Given the description of an element on the screen output the (x, y) to click on. 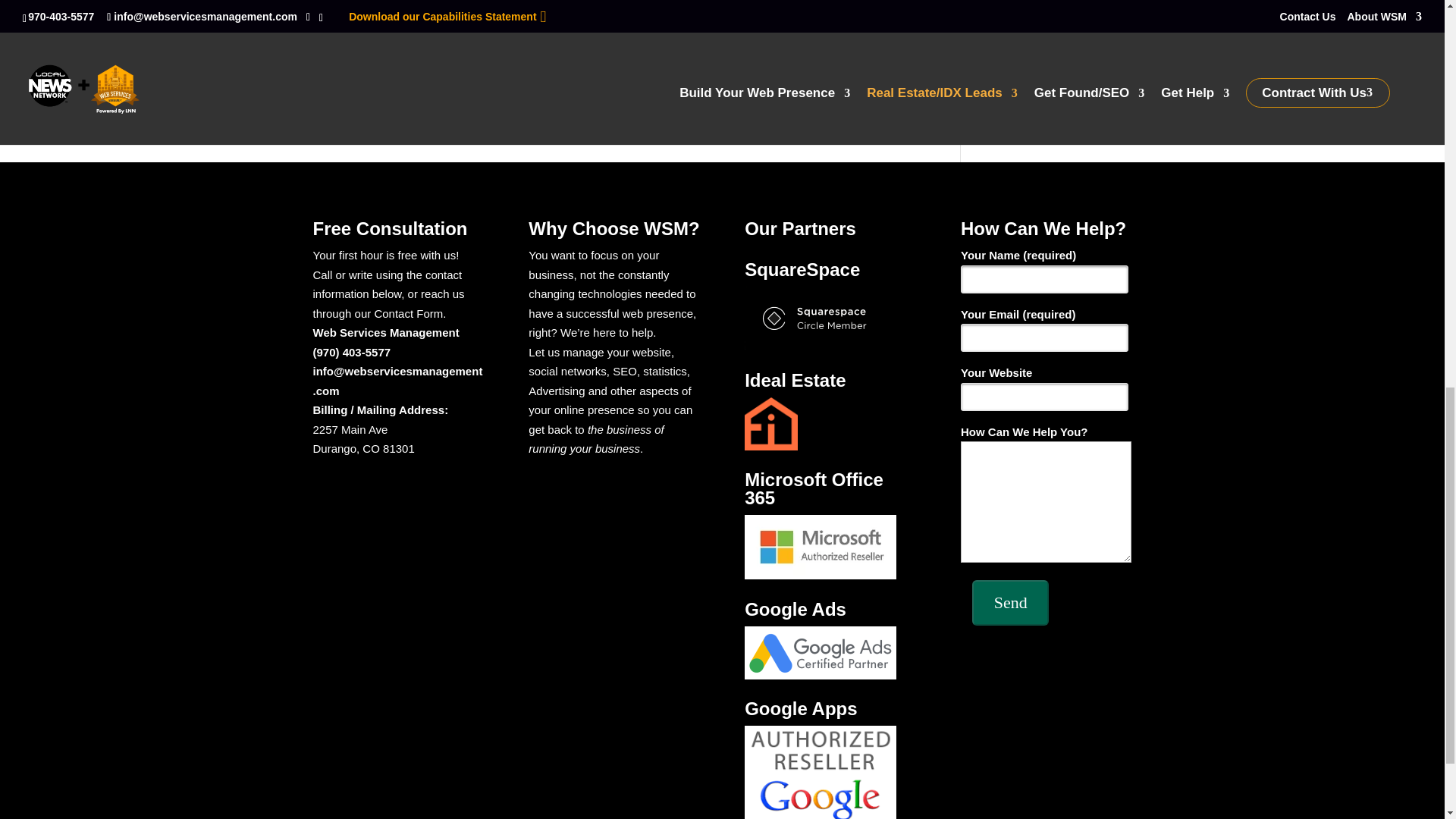
Google Apps (820, 772)
VisualIDX Kiosk (814, 7)
SquareSpace (820, 318)
Microsoft Office 365 (820, 547)
VisualIDX Kiosk (757, 22)
Ideal Estate (770, 423)
VisualIDX WordPress Plugin (618, 2)
Send (1010, 602)
